Given the description of an element on the screen output the (x, y) to click on. 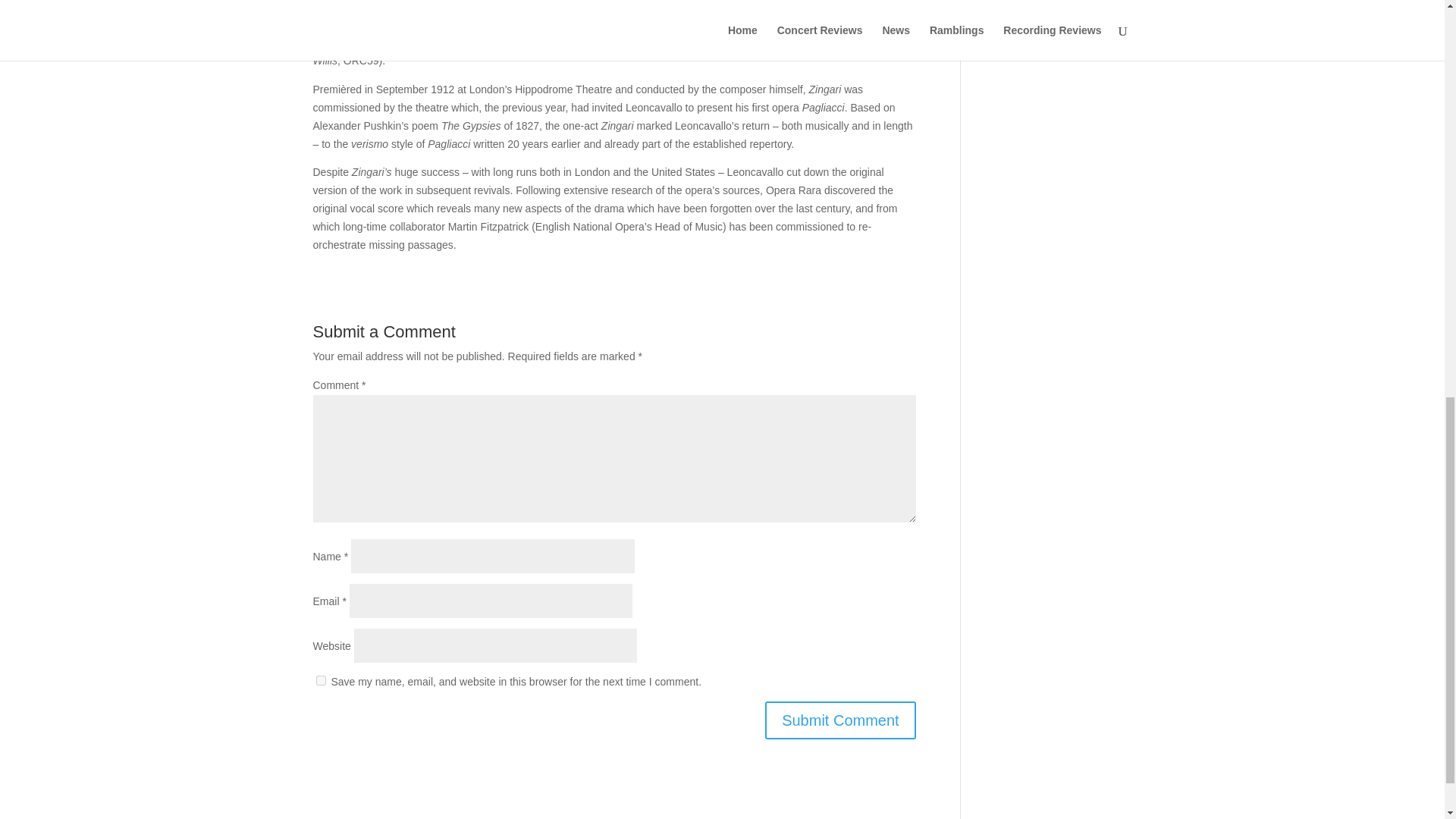
yes (319, 680)
Submit Comment (840, 720)
Submit Comment (840, 720)
